Given the description of an element on the screen output the (x, y) to click on. 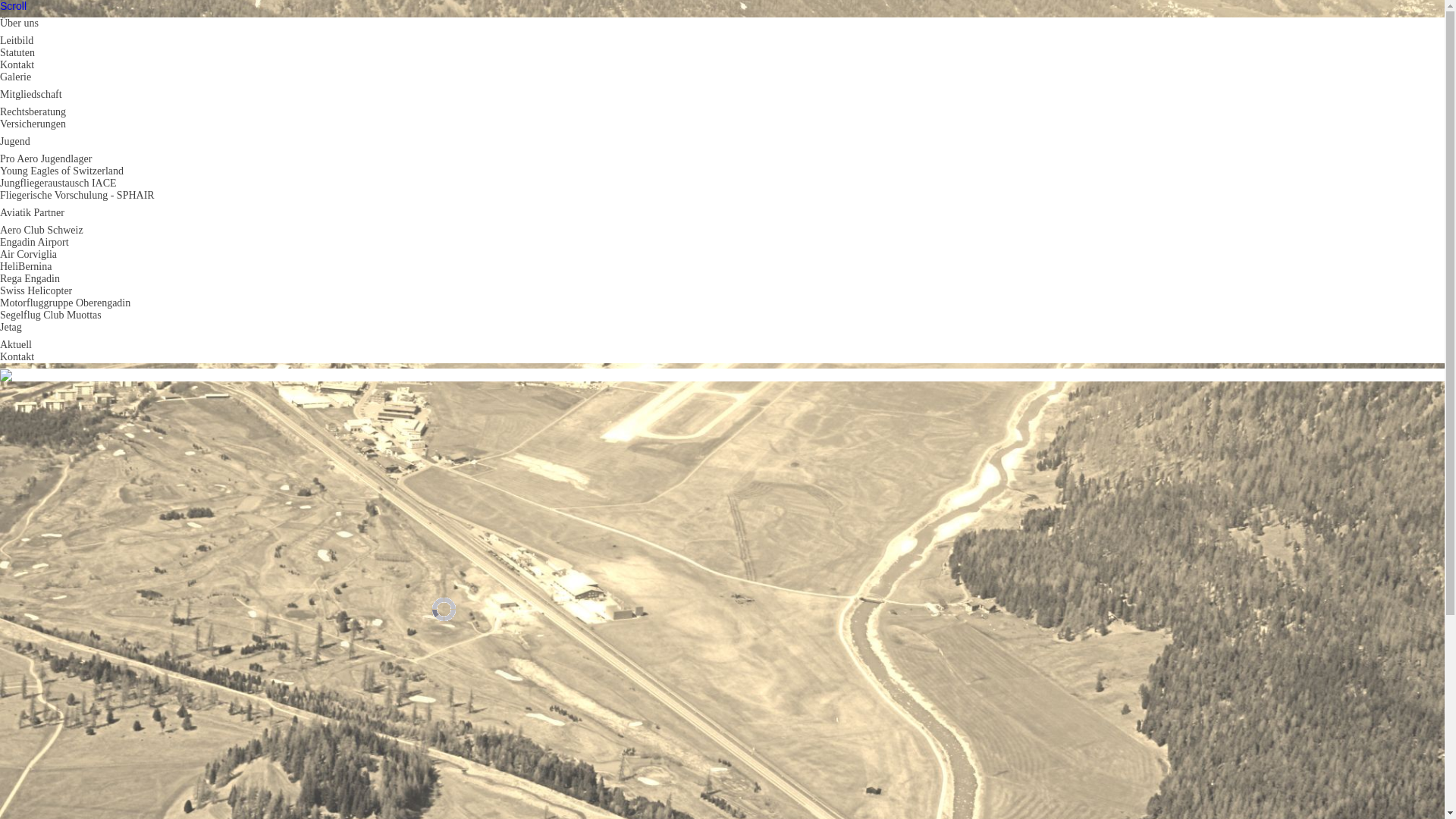
Air Corviglia Element type: text (28, 254)
Mitgliedschaft Element type: text (31, 94)
Jetag Element type: text (10, 326)
Rechtsberatung Element type: text (32, 111)
HeliBernina Element type: text (25, 266)
Kontakt Element type: text (17, 64)
Swiss Helicopter Element type: text (36, 290)
Aviatik Partner Element type: text (32, 212)
Aero Club Schweiz Element type: text (41, 229)
Motorfluggruppe Oberengadin Element type: text (65, 302)
Aktuell Element type: text (15, 344)
Young Eagles of Switzerland Element type: text (61, 170)
Galerie Element type: text (15, 76)
Segelflug Club Muottas Element type: text (50, 314)
Engadin Airport Element type: text (34, 241)
Statuten Element type: text (17, 52)
Versicherungen Element type: text (32, 123)
Pro Aero Jugendlager Element type: text (45, 158)
Fliegerische Vorschulung - SPHAIR Element type: text (77, 194)
Kontakt Element type: text (17, 356)
Jungfliegeraustausch IACE Element type: text (58, 182)
Rega Engadin Element type: text (29, 278)
Leitbild Element type: text (16, 40)
Scroll Element type: text (13, 6)
Jugend Element type: text (15, 141)
